Given the description of an element on the screen output the (x, y) to click on. 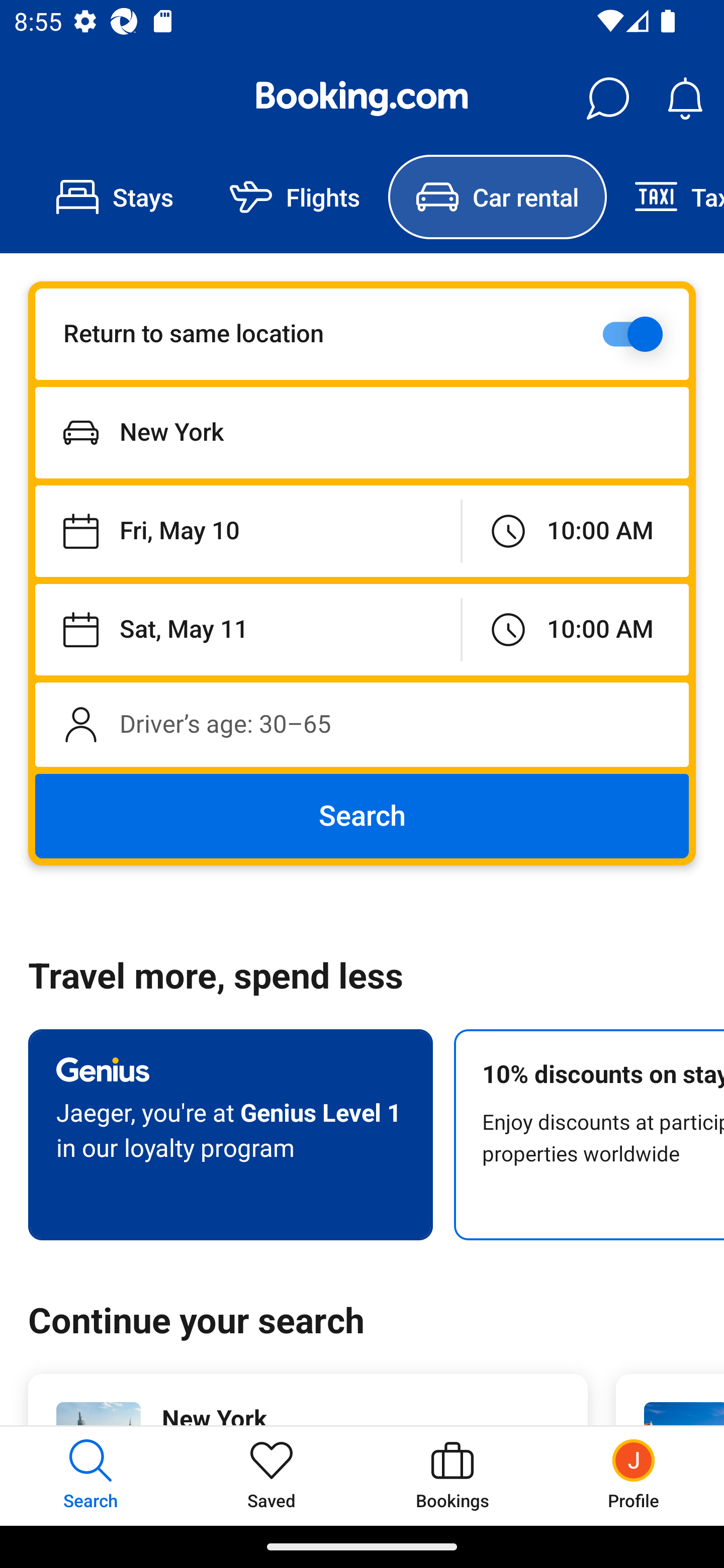
Messages (607, 98)
Notifications (685, 98)
Stays (114, 197)
Flights (294, 197)
Car rental (497, 197)
Taxi (665, 197)
Pick-up location: Text(name=New York) (361, 432)
Pick-up date: 2024-05-10 (247, 531)
Pick-up time: 10:00:00.000 (575, 531)
Drop-off date: 2024-05-11 (247, 629)
Drop-off time: 10:00:00.000 (575, 629)
Enter the driver's age (361, 724)
Search (361, 815)
Saved (271, 1475)
Bookings (452, 1475)
Profile (633, 1475)
